Given the description of an element on the screen output the (x, y) to click on. 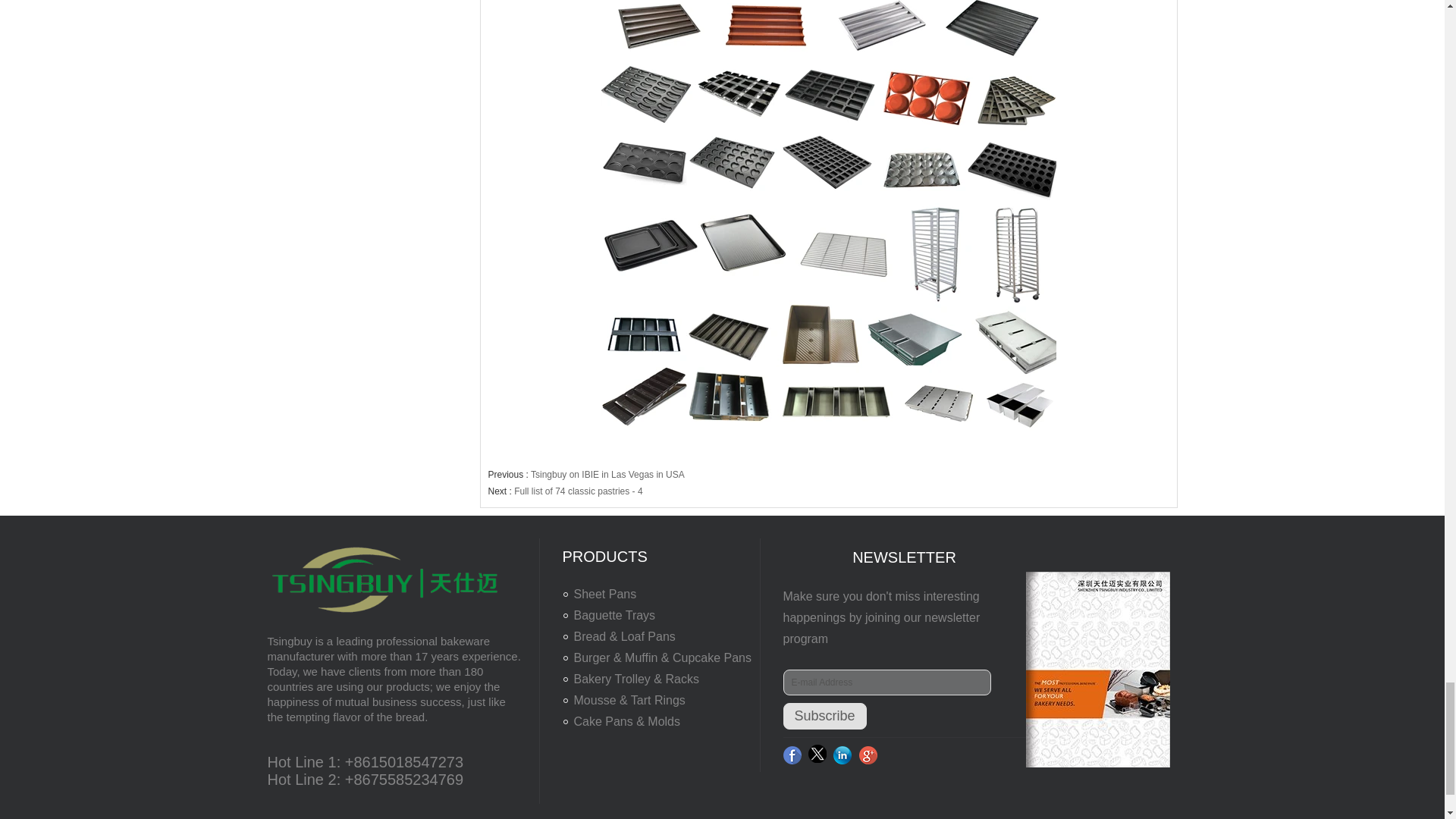
E-mail Address (886, 682)
Subscribe (824, 715)
